Given the description of an element on the screen output the (x, y) to click on. 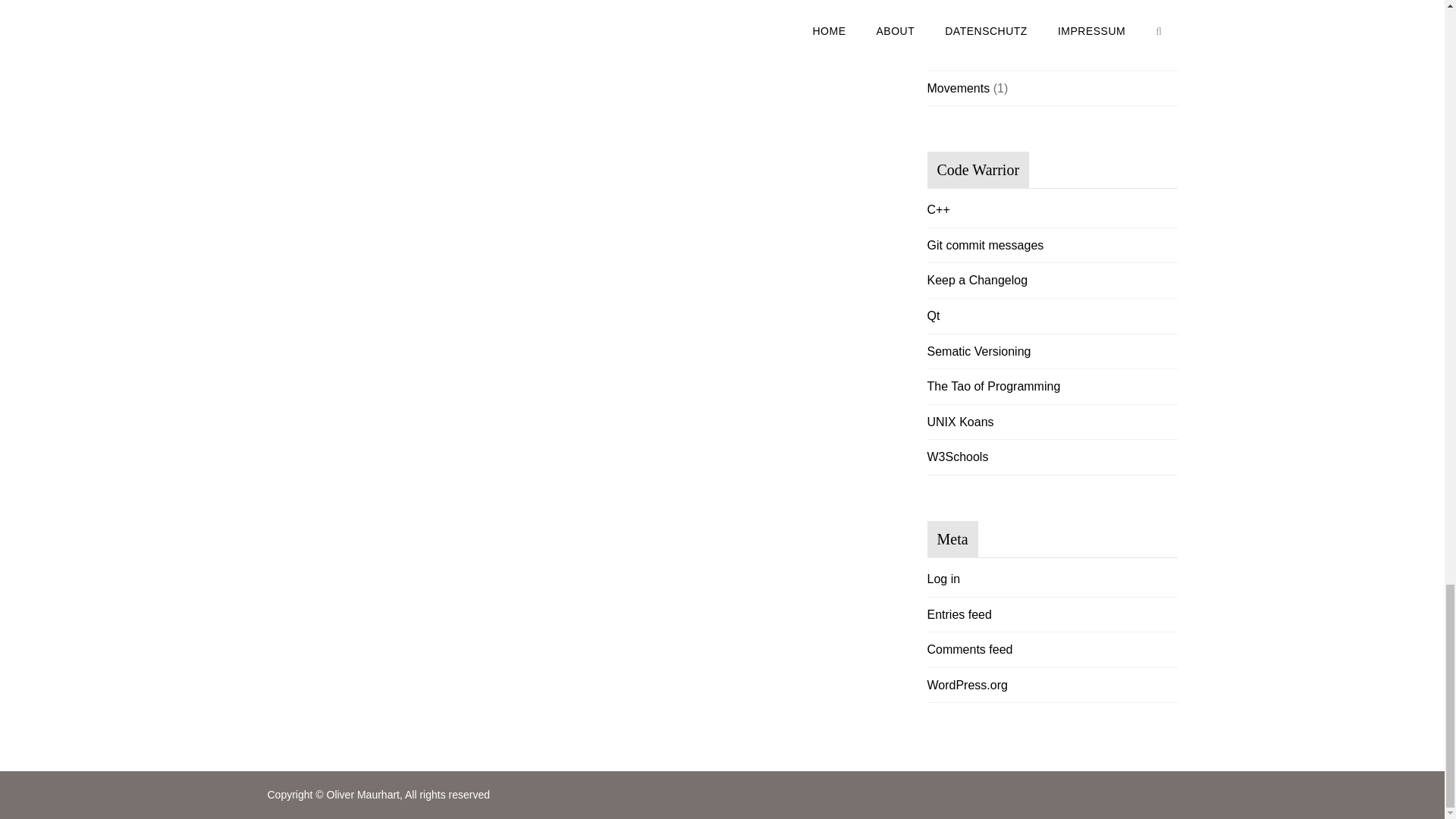
What you need to know when coding at the edge (937, 209)
How to version your software. (978, 350)
How to write clean and useful changelogs. (976, 279)
The good and the bad commit messages. (984, 245)
The famous koans of Master Foo (959, 421)
The Tao of Programming (992, 386)
What you need to know when coding the Web (957, 456)
The Framework when coding at the edge (932, 315)
